Given the description of an element on the screen output the (x, y) to click on. 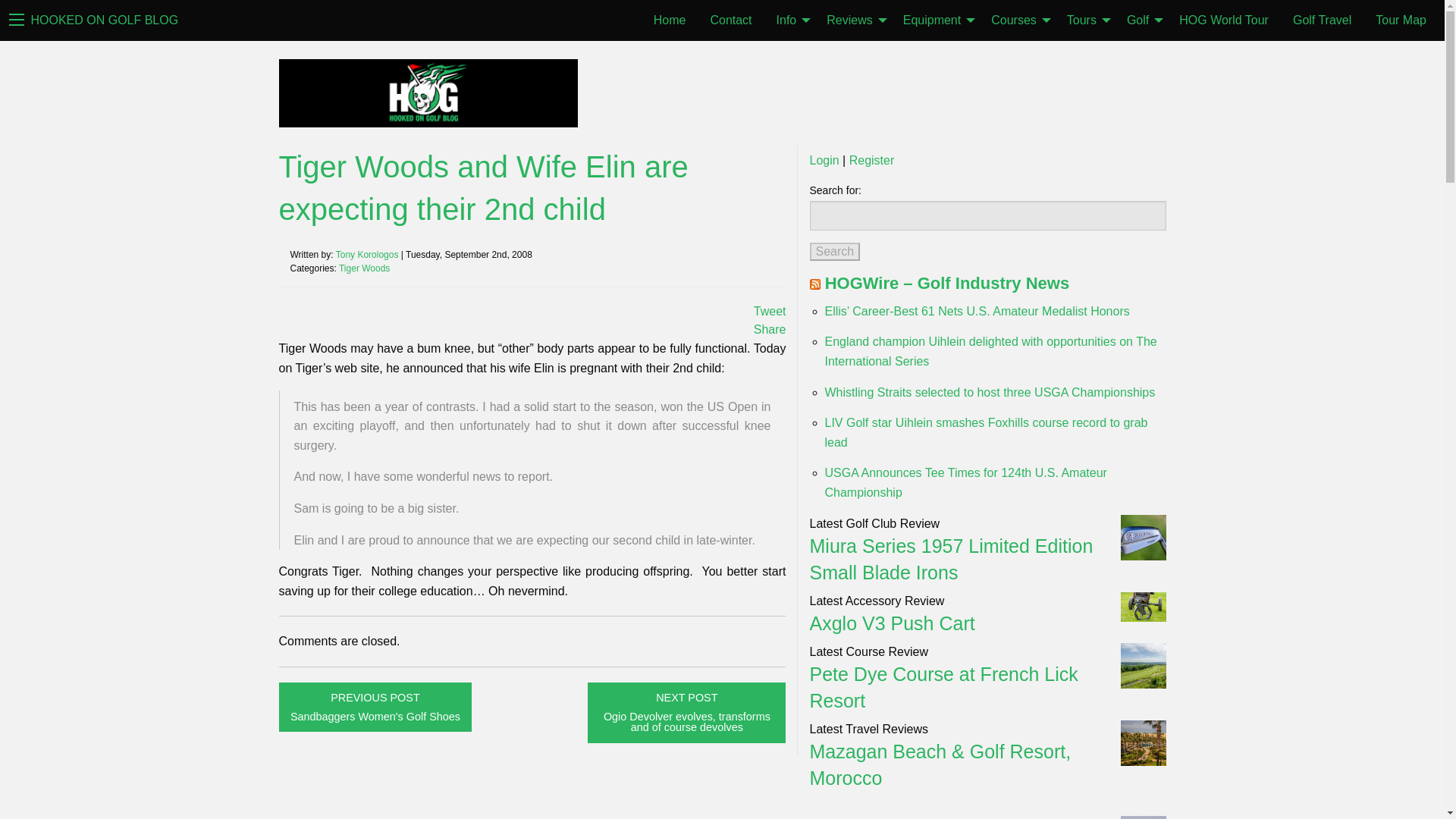
Miura Series 1957 Limited Edition Small Blade Irons (951, 559)
Golf Blog Home Page (103, 20)
Search (834, 251)
Golf Accessories blog (892, 622)
Pete Dye Course at French Lick Resort Review (943, 686)
